Given the description of an element on the screen output the (x, y) to click on. 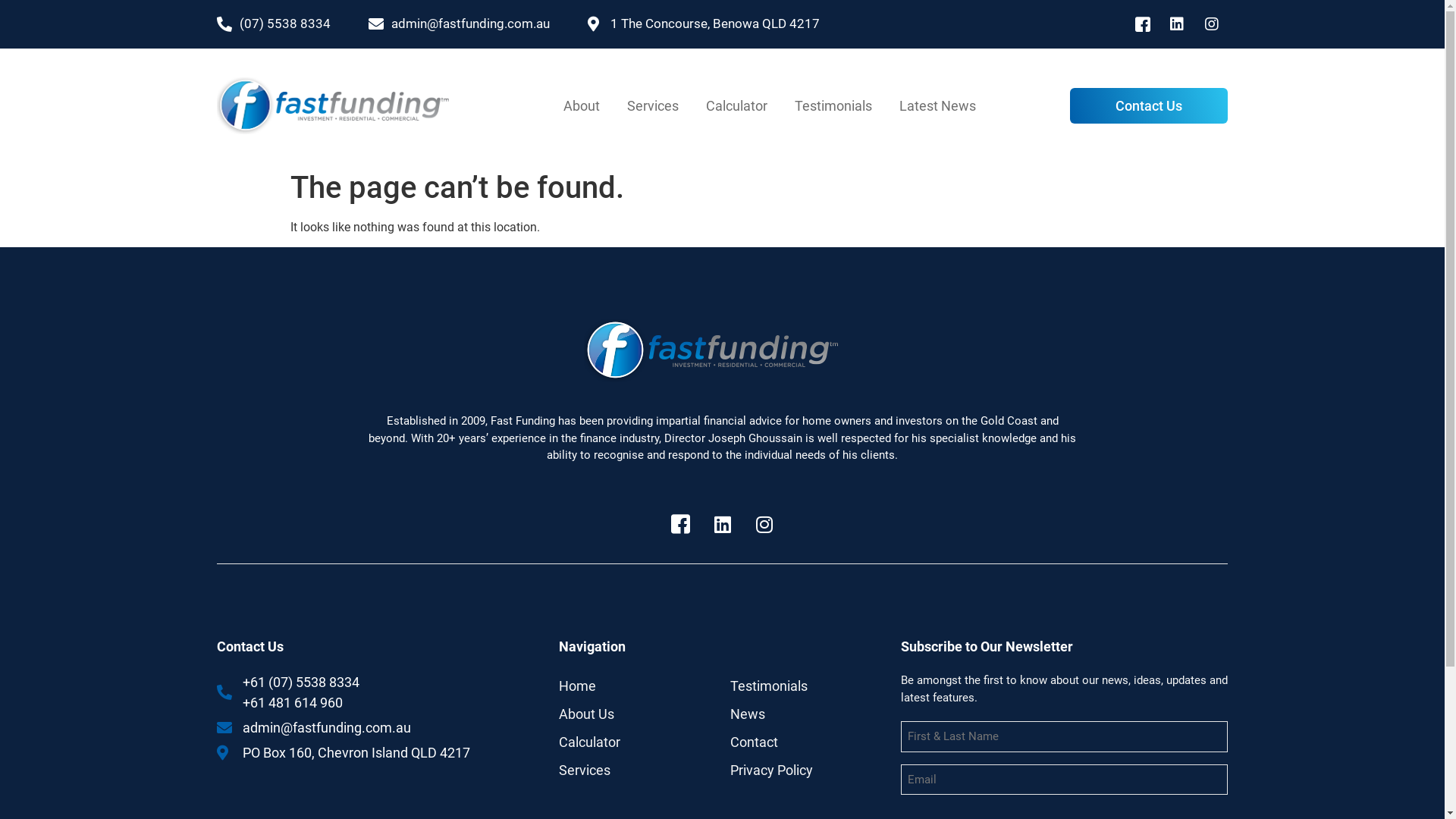
News Element type: text (807, 713)
Home Element type: text (636, 685)
admin@fastfunding.com.au Element type: text (458, 24)
Latest News Element type: text (937, 105)
Testimonials Element type: text (833, 105)
fast-funding-logo Element type: hover (342, 105)
PO Box 160, Chevron Island QLD 4217 Element type: text (364, 752)
Testimonials Element type: text (807, 685)
1 The Concourse, Benowa QLD 4217 Element type: text (703, 24)
Privacy Policy Element type: text (807, 770)
+61 (07) 5538 8334 Element type: text (300, 682)
About Us Element type: text (636, 713)
admin@fastfunding.com.au Element type: text (364, 727)
Contact Element type: text (807, 742)
Contact Us Element type: text (1148, 105)
Calculator Element type: text (636, 742)
Services Element type: text (636, 770)
Calculator Element type: text (736, 105)
Services Element type: text (652, 105)
About Element type: text (581, 105)
+61 481 614 960 Element type: text (292, 702)
(07) 5538 8334 Element type: text (273, 24)
